Given the description of an element on the screen output the (x, y) to click on. 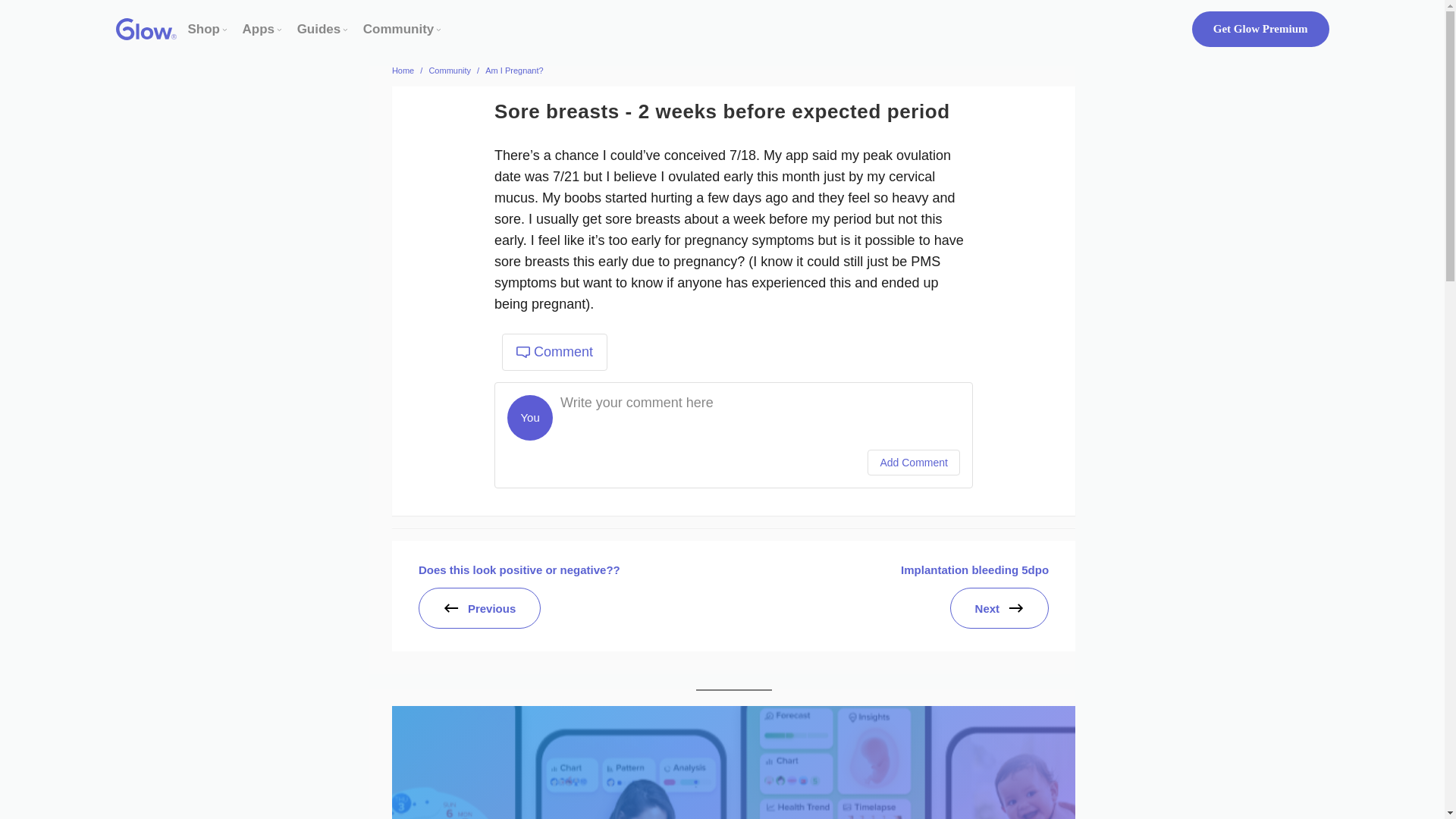
Glow Community (397, 28)
Glow Shop (204, 28)
Guides (318, 28)
Apps (259, 28)
Community (397, 28)
Shop (204, 28)
